Given the description of an element on the screen output the (x, y) to click on. 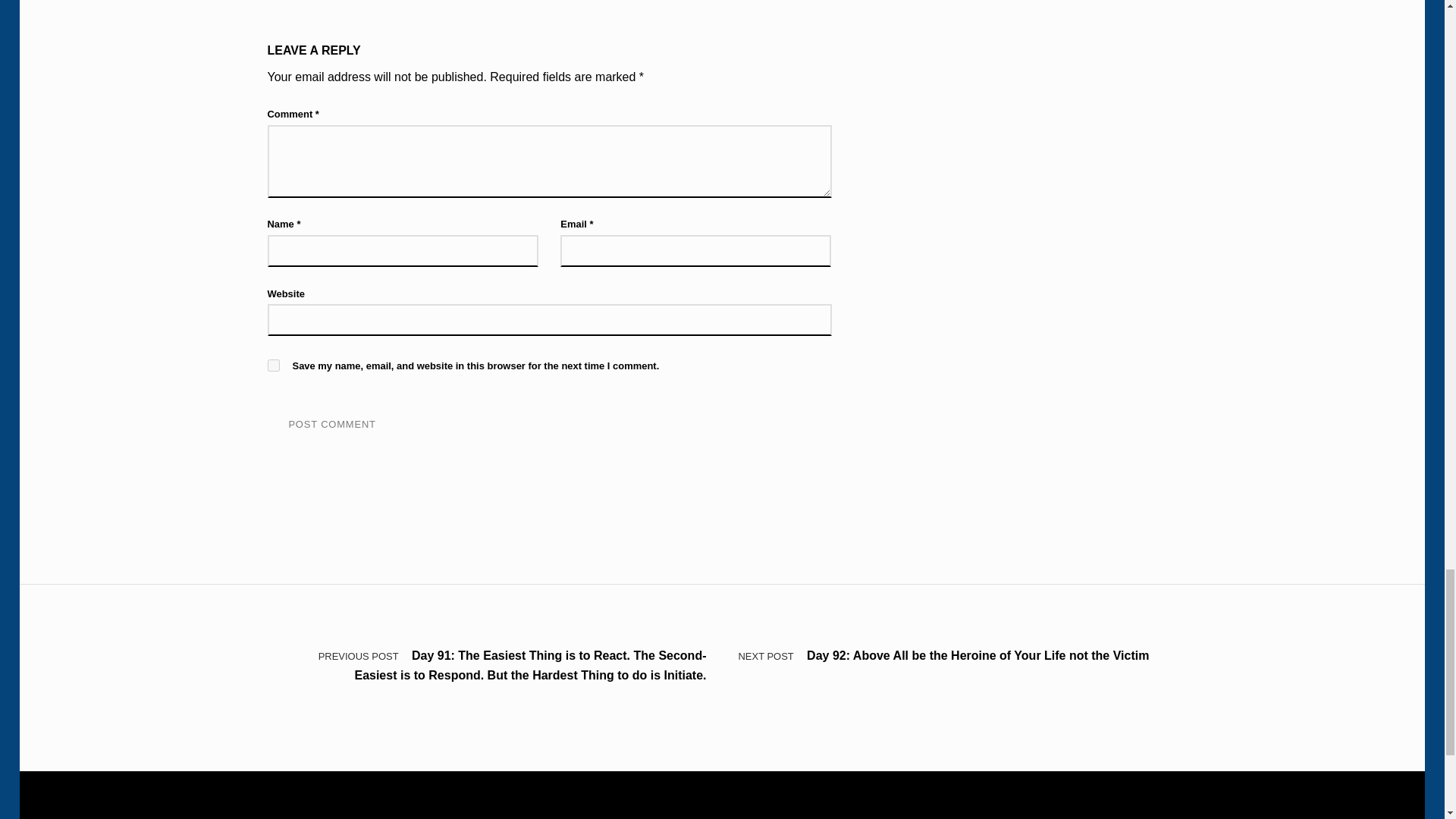
Post Comment (331, 424)
yes (272, 365)
Post Comment (331, 424)
